Given the description of an element on the screen output the (x, y) to click on. 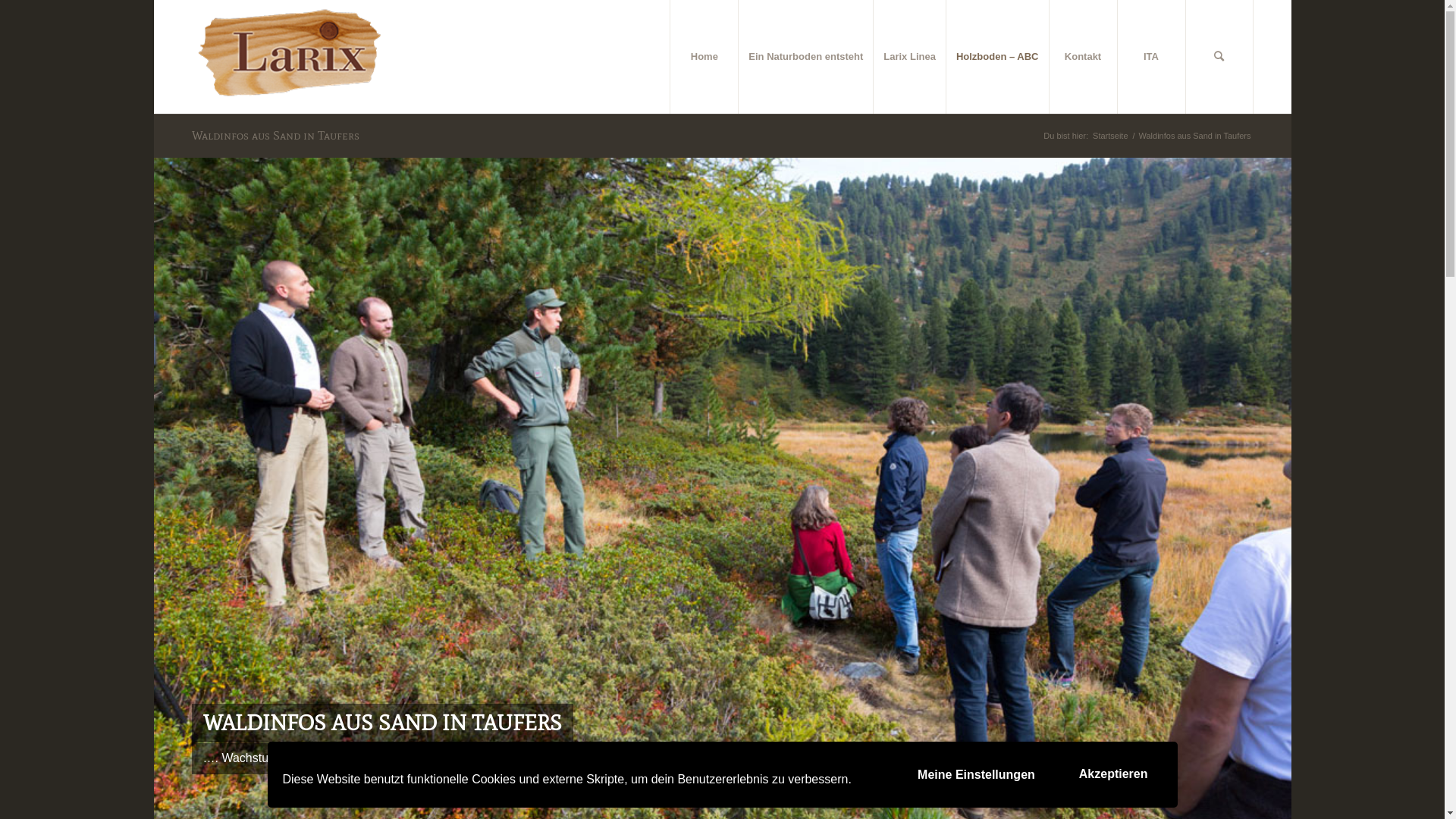
Startseite Element type: text (1109, 135)
Kontakt Element type: text (1082, 56)
Ein Naturboden entsteht Element type: text (804, 56)
ITA Element type: text (1150, 56)
Meine Einstellungen Element type: text (976, 774)
Waldinfos aus Sand in Taufers Element type: text (274, 135)
Larix Linea Element type: text (908, 56)
Home Element type: text (703, 56)
Akzeptieren Element type: text (1113, 774)
